Given the description of an element on the screen output the (x, y) to click on. 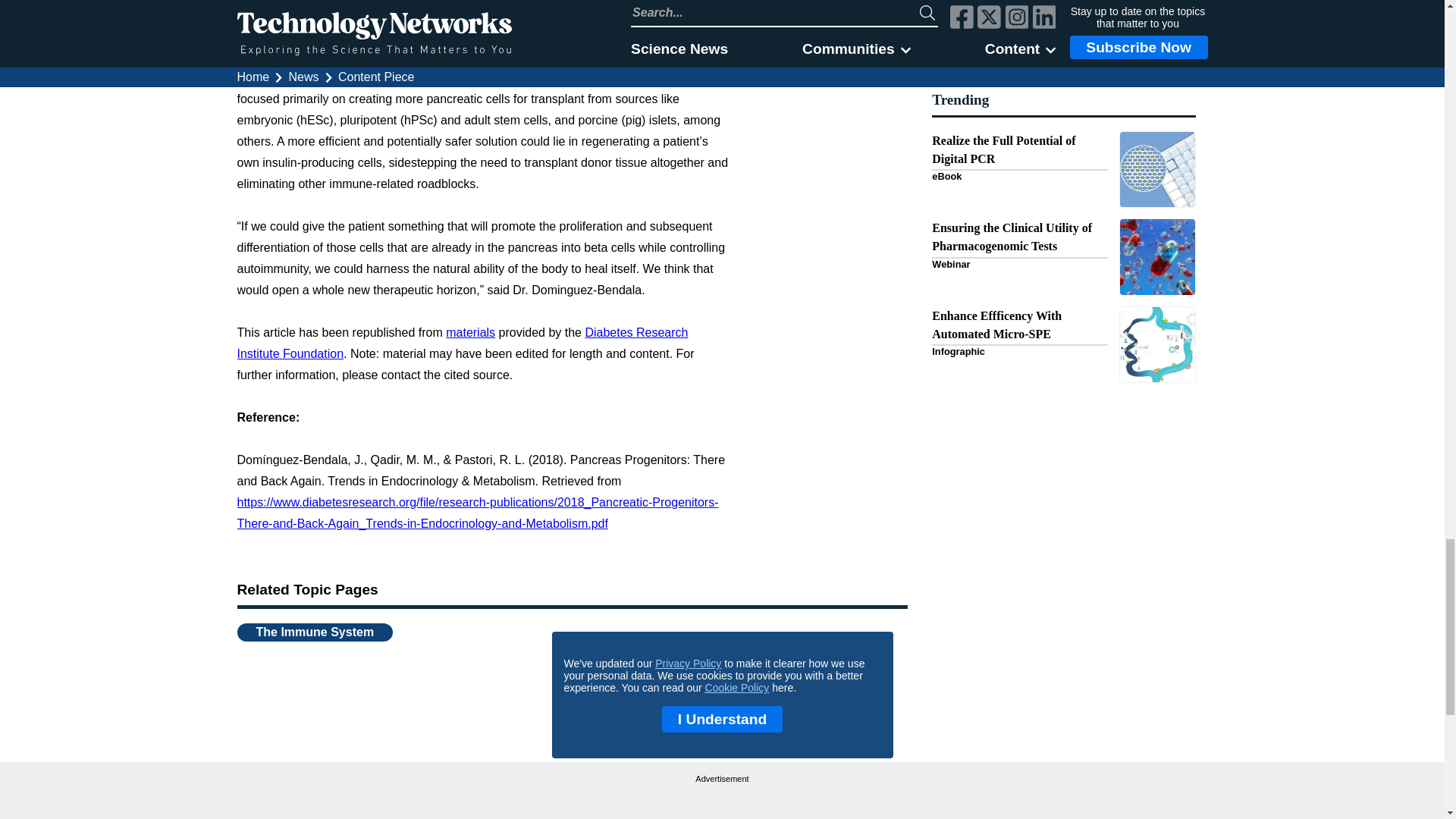
3rd party ad content (721, 800)
